Given the description of an element on the screen output the (x, y) to click on. 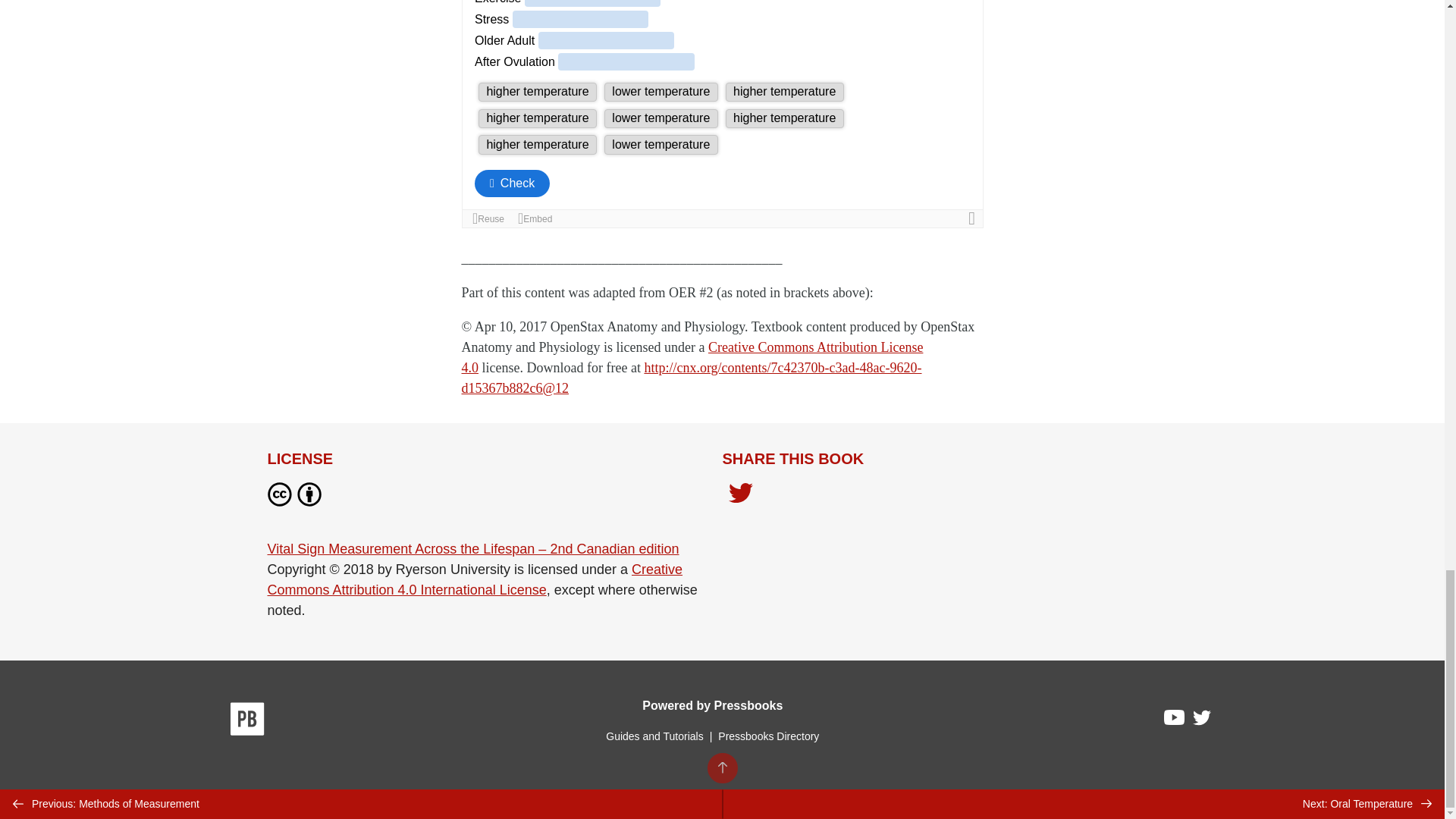
Share on Twitter (740, 496)
Pressbooks Directory (768, 736)
Creative Commons Attribution License 4.0 (692, 357)
Guides and Tutorials (654, 736)
Pressbooks on YouTube (1174, 721)
Powered by Pressbooks (712, 705)
Share on Twitter (740, 494)
Ch 2 Things that influence temperature (721, 114)
Creative Commons Attribution 4.0 International License (474, 579)
